Given the description of an element on the screen output the (x, y) to click on. 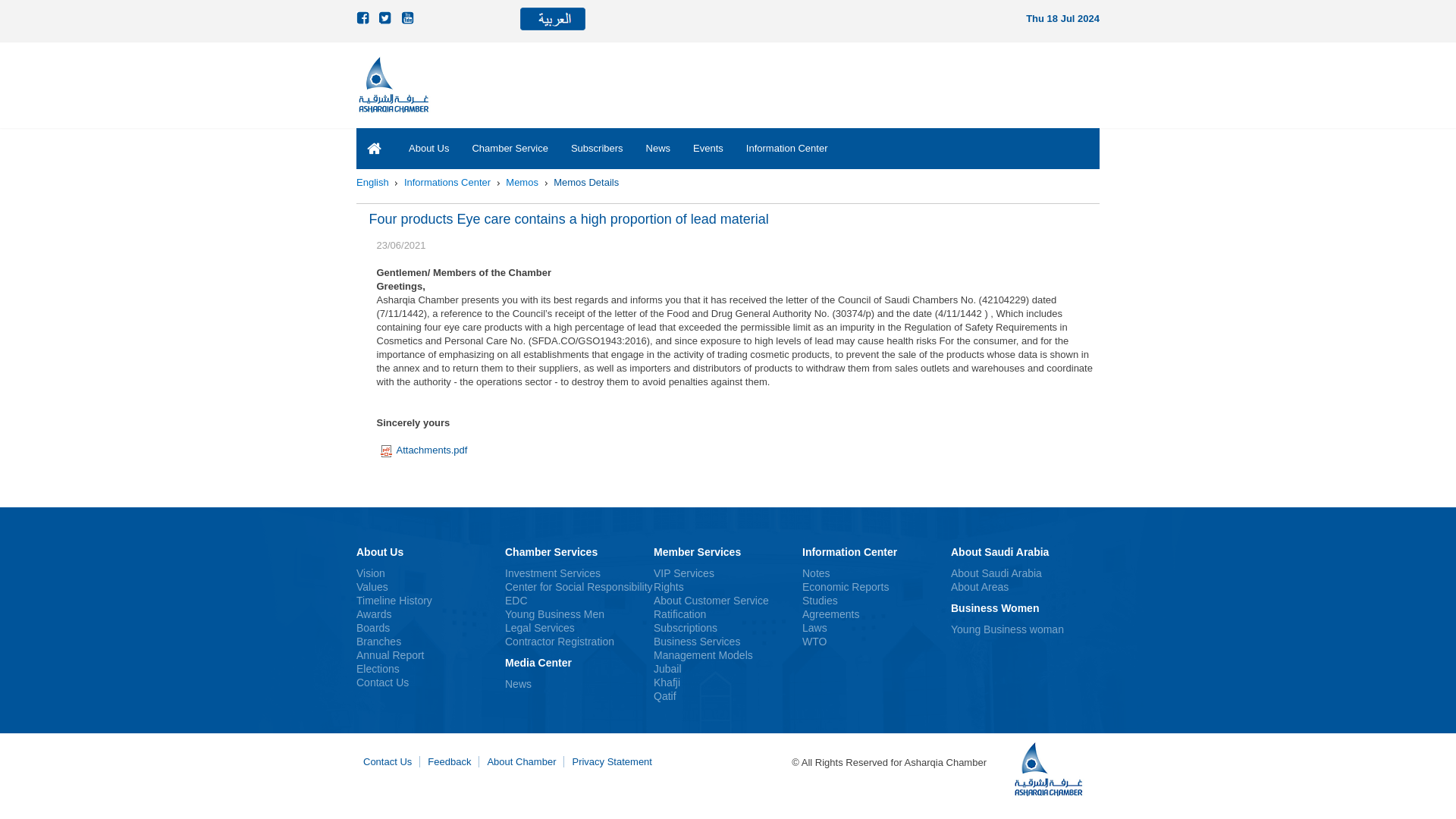
Chamber Service (509, 147)
Home (372, 182)
News (658, 147)
Subscribers (596, 147)
Events (708, 147)
About Us (428, 147)
facebook (363, 18)
Twitter (386, 18)
Youtube (408, 18)
